Given the description of an element on the screen output the (x, y) to click on. 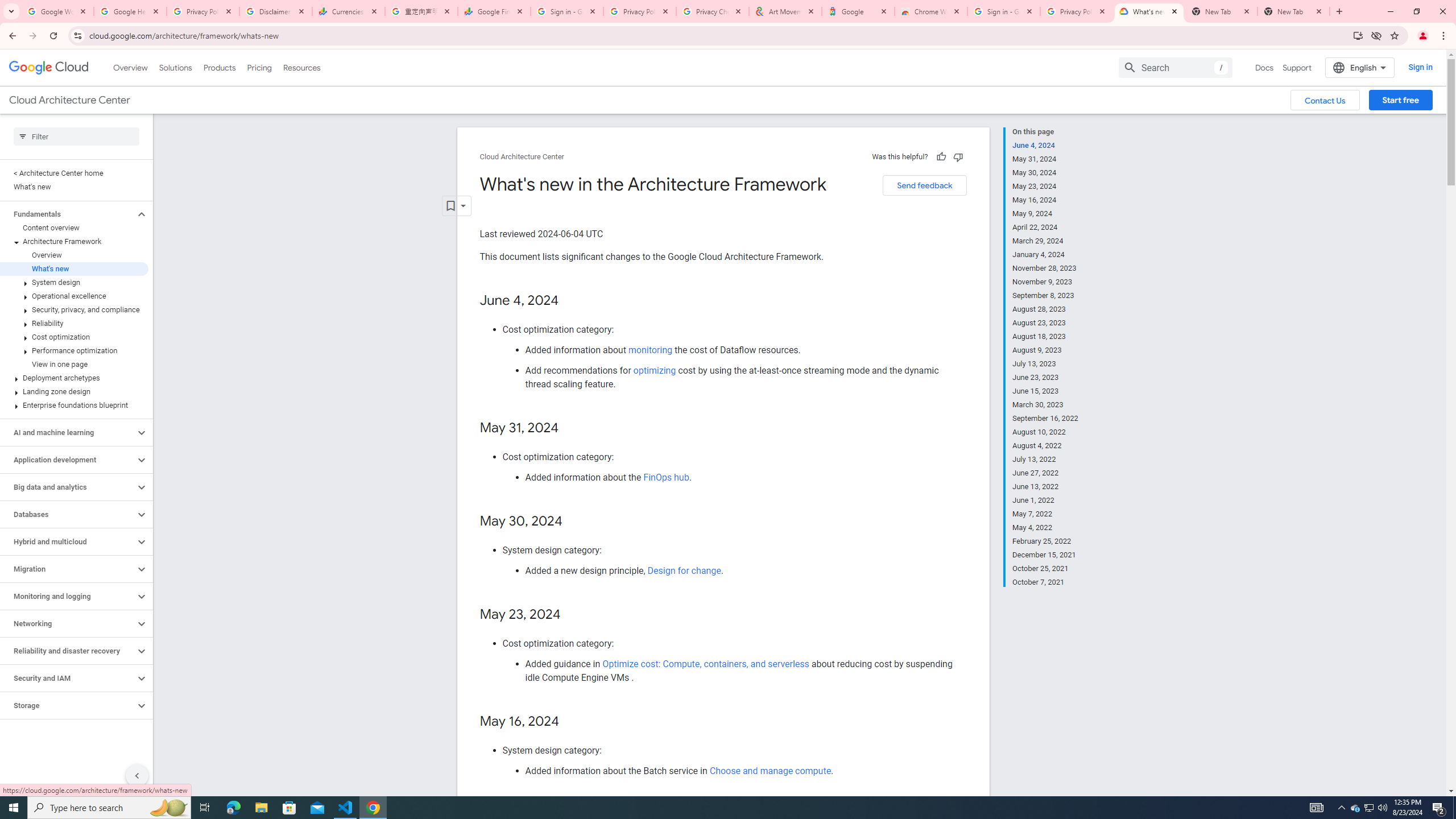
Send feedback (924, 185)
Security, privacy, and compliance (74, 309)
Networking (67, 623)
September 8, 2023 (1044, 295)
Architecture Framework (74, 241)
May 23, 2024 (1044, 186)
Storage (67, 705)
Reliability and disaster recovery (67, 650)
June 13, 2022 (1044, 486)
Reliability (74, 323)
